Given the description of an element on the screen output the (x, y) to click on. 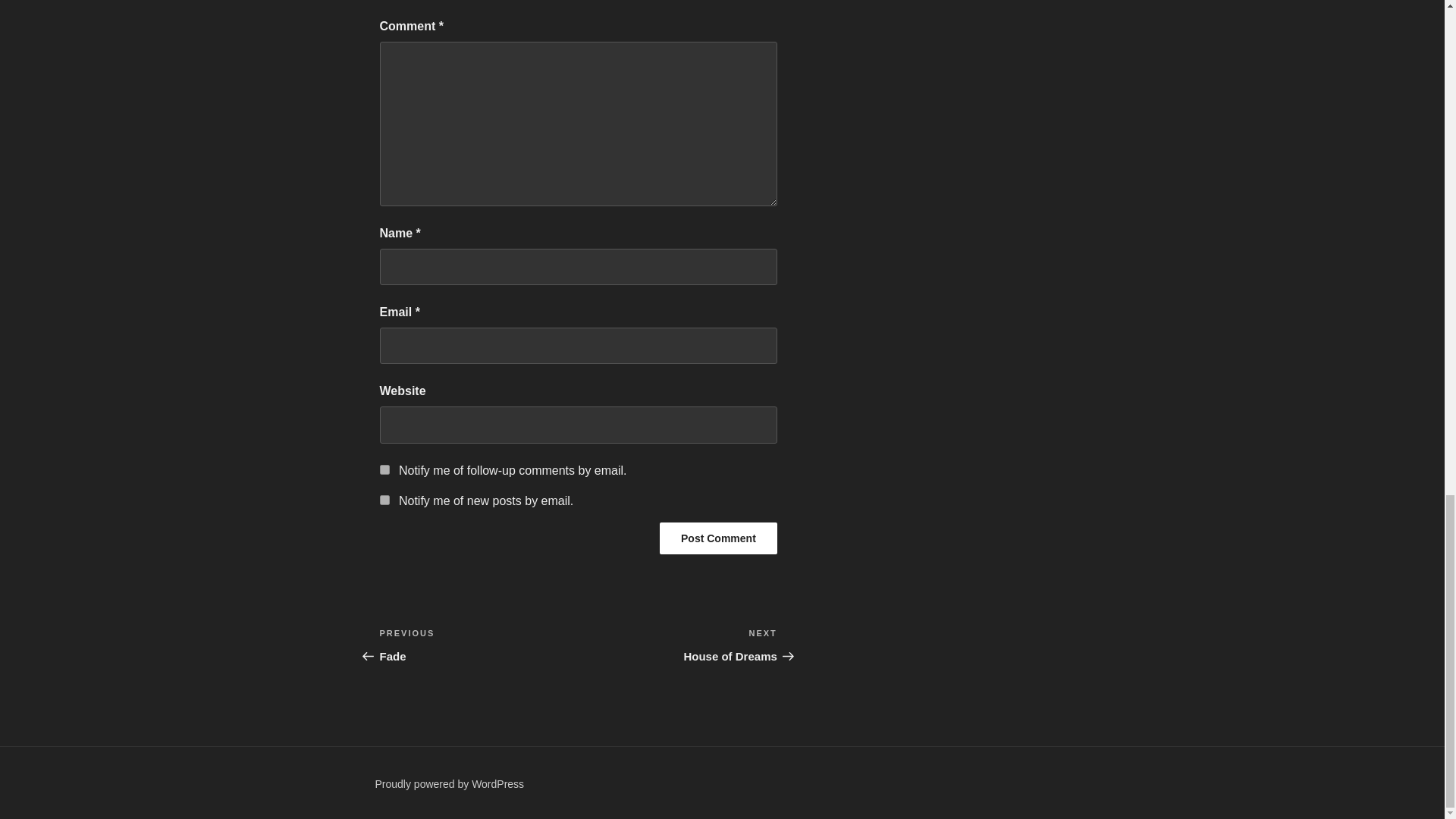
Post Comment (478, 645)
subscribe (718, 538)
subscribe (383, 500)
Post Comment (677, 645)
